Given the description of an element on the screen output the (x, y) to click on. 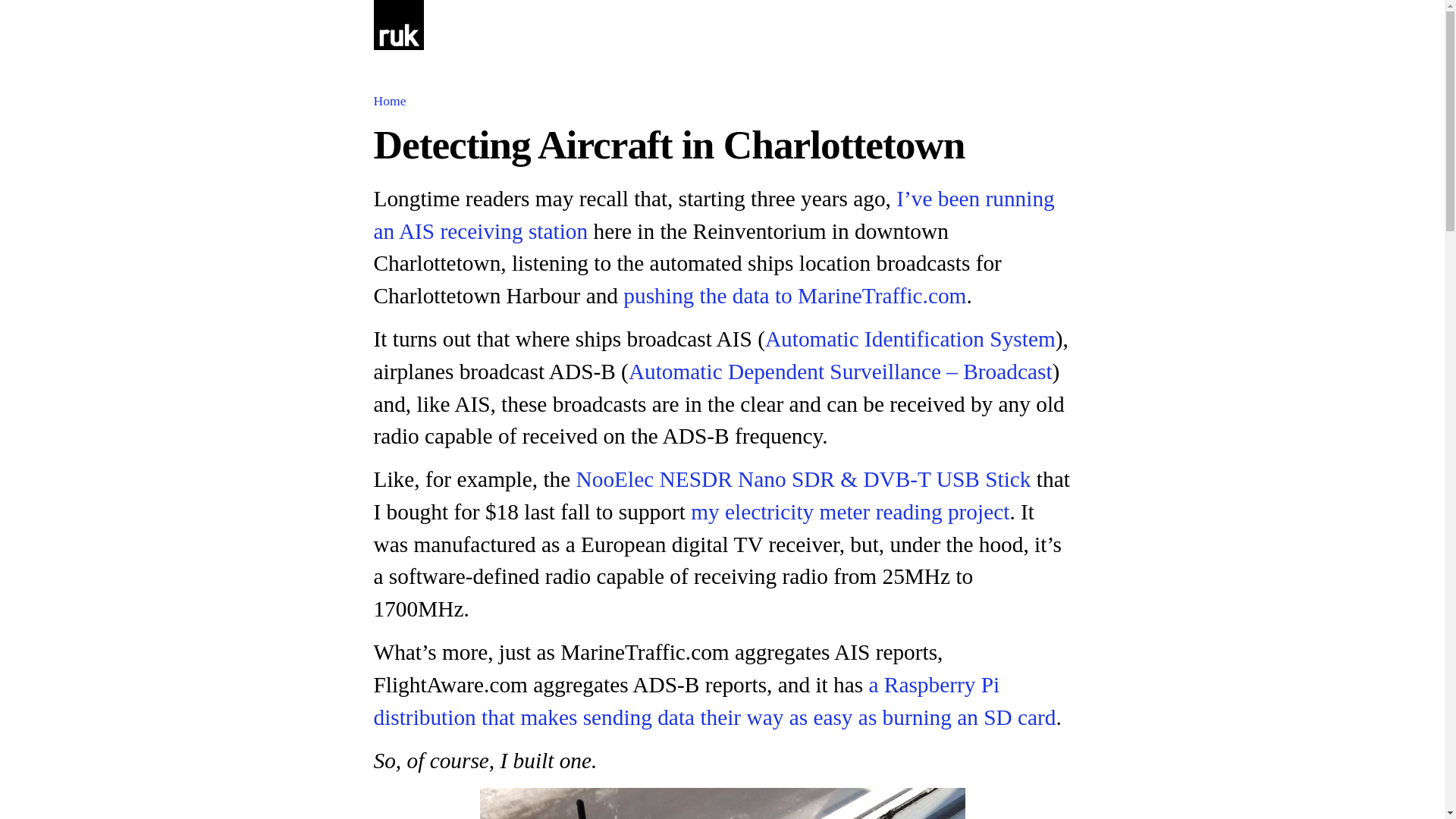
my electricity meter reading project (849, 511)
pushing the data to MarineTraffic.com (794, 295)
Automatic Identification System (910, 338)
Home (389, 100)
ruk.ca (397, 33)
